Given the description of an element on the screen output the (x, y) to click on. 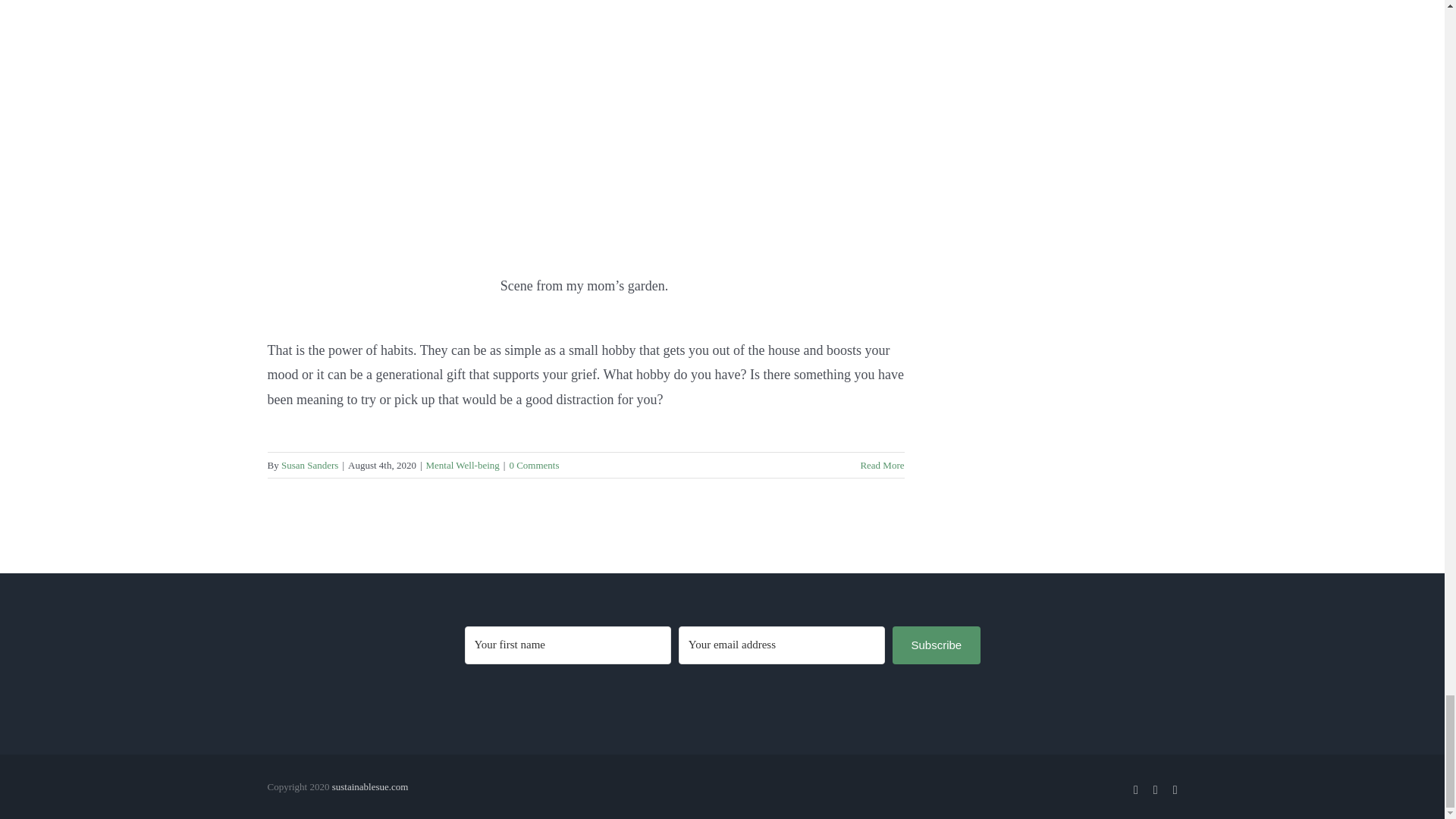
Mental Well-being (462, 464)
Posts by Susan Sanders (309, 464)
Read More (882, 464)
Susan Sanders (309, 464)
0 Comments (533, 464)
